Given the description of an element on the screen output the (x, y) to click on. 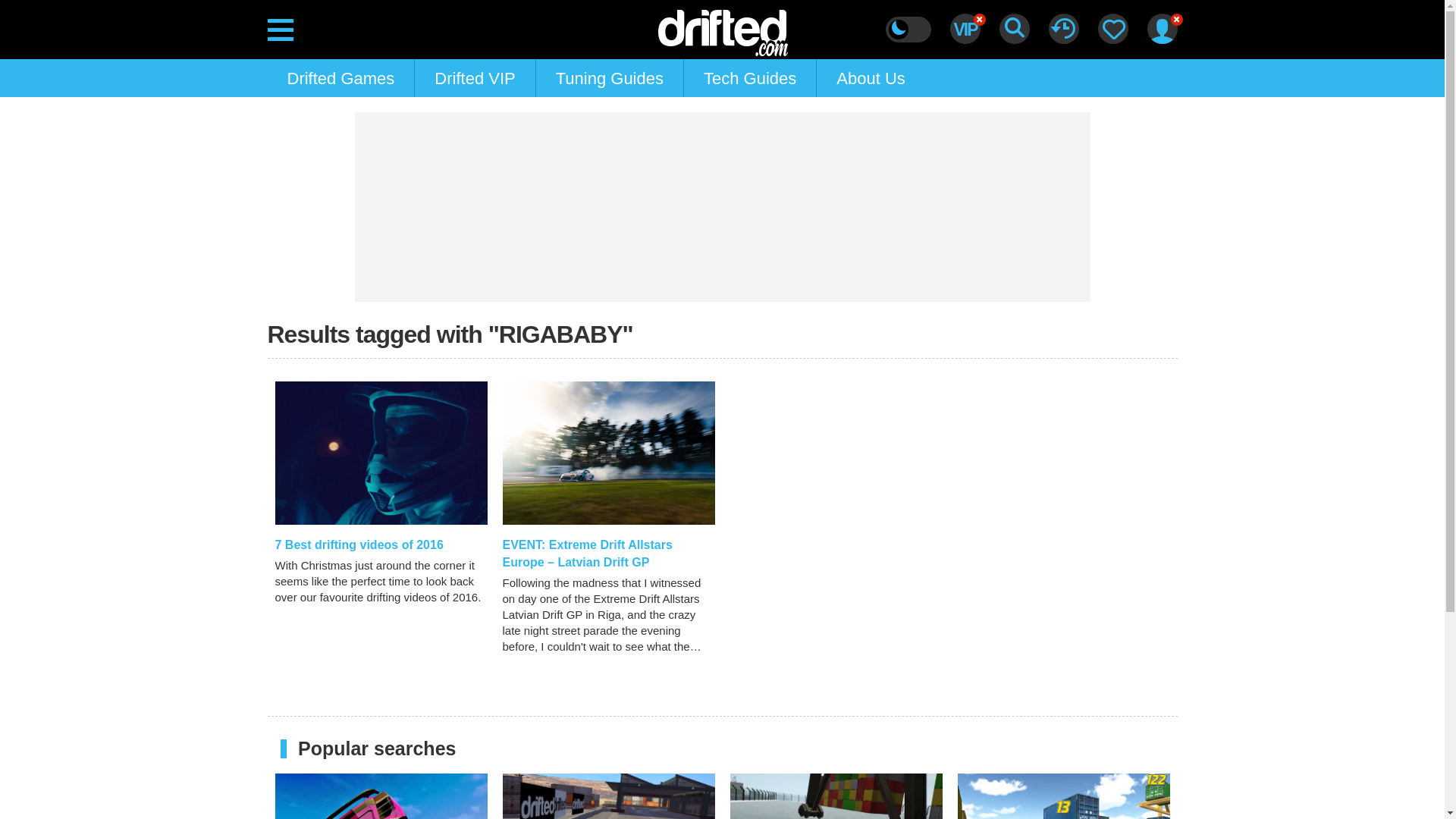
Drifted Games (339, 77)
Tuning Guides (608, 77)
About Us (870, 77)
My Account (1161, 28)
Drifted Games (339, 77)
Drifted VIP (474, 77)
Favourites (1112, 28)
Drifted (722, 28)
Drifted VIP (474, 77)
Drifted (722, 28)
Tech Guides (749, 77)
